Given the description of an element on the screen output the (x, y) to click on. 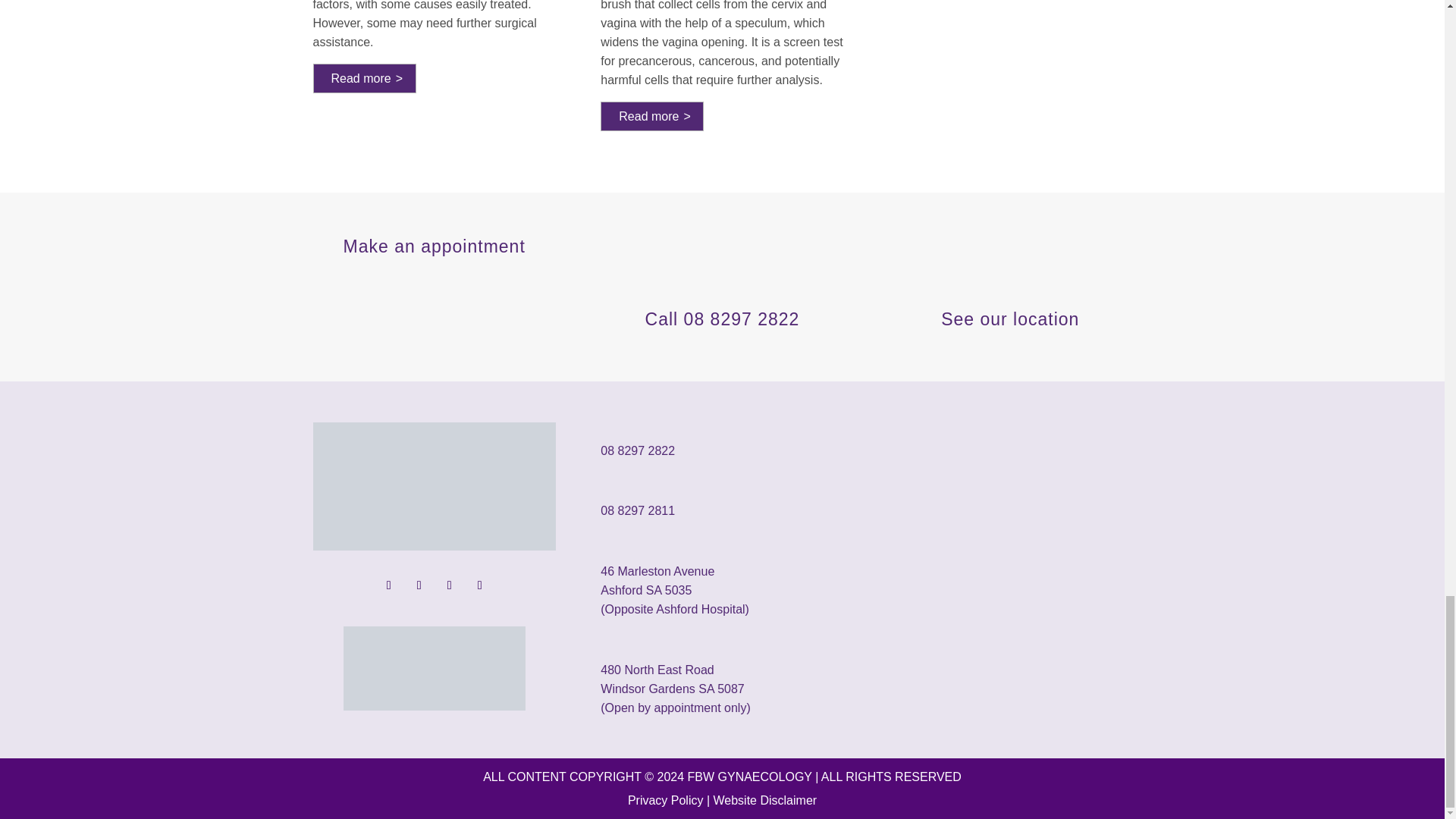
Follow on Instagram (418, 585)
Follow on LinkedIn (449, 585)
Follow on Facebook (389, 585)
